Given the description of an element on the screen output the (x, y) to click on. 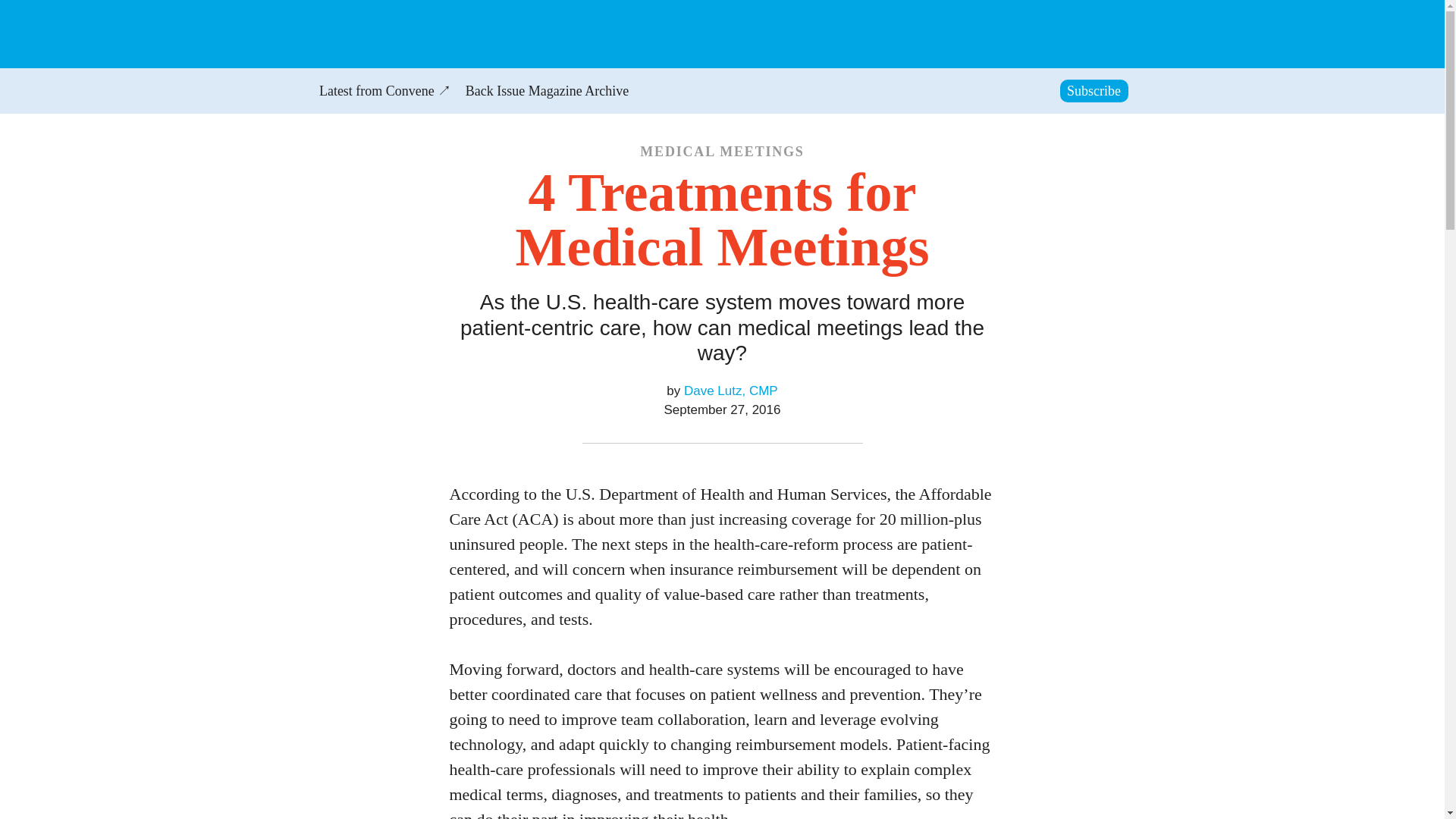
Subscribe (1093, 90)
Back Issue Magazine Archive (546, 92)
PCMA Convene (401, 37)
PCMA CONVENE (401, 37)
Posts by Dave Lutz, CMP (730, 391)
Dave Lutz, CMP (730, 391)
